Given the description of an element on the screen output the (x, y) to click on. 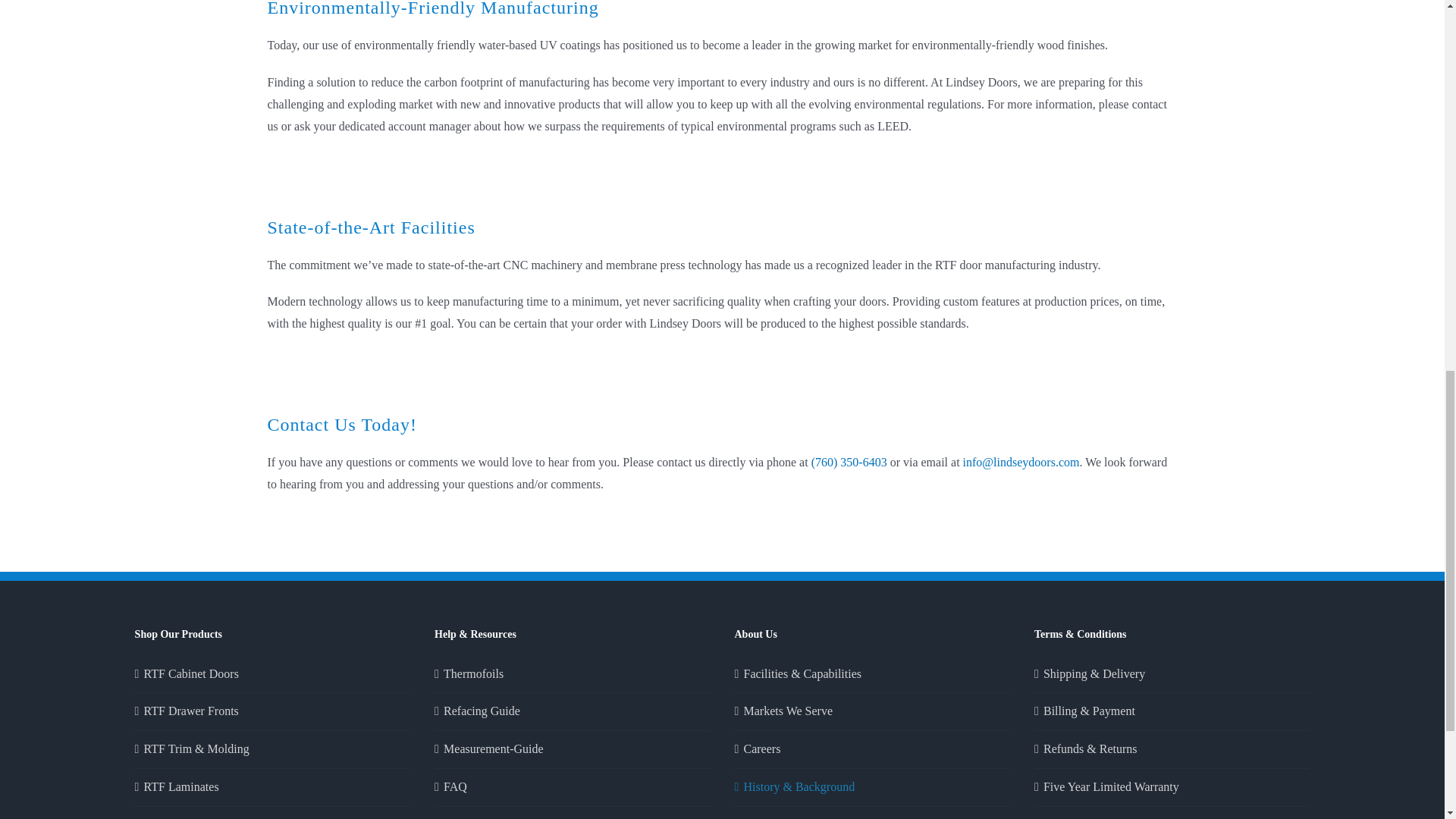
Refacing Guide (572, 711)
RTF Cabinet Doors (273, 674)
Measurement-Guide (572, 749)
Terms of Service (1172, 816)
Five Year Limited Warranty (1172, 787)
FAQ (572, 787)
Markets We Serve (871, 711)
Contact Us (871, 816)
Thermofoils (572, 674)
RTF Drawer Fronts (273, 711)
RTF Laminates (273, 787)
Ordering Samples (273, 816)
Careers (871, 749)
